Given the description of an element on the screen output the (x, y) to click on. 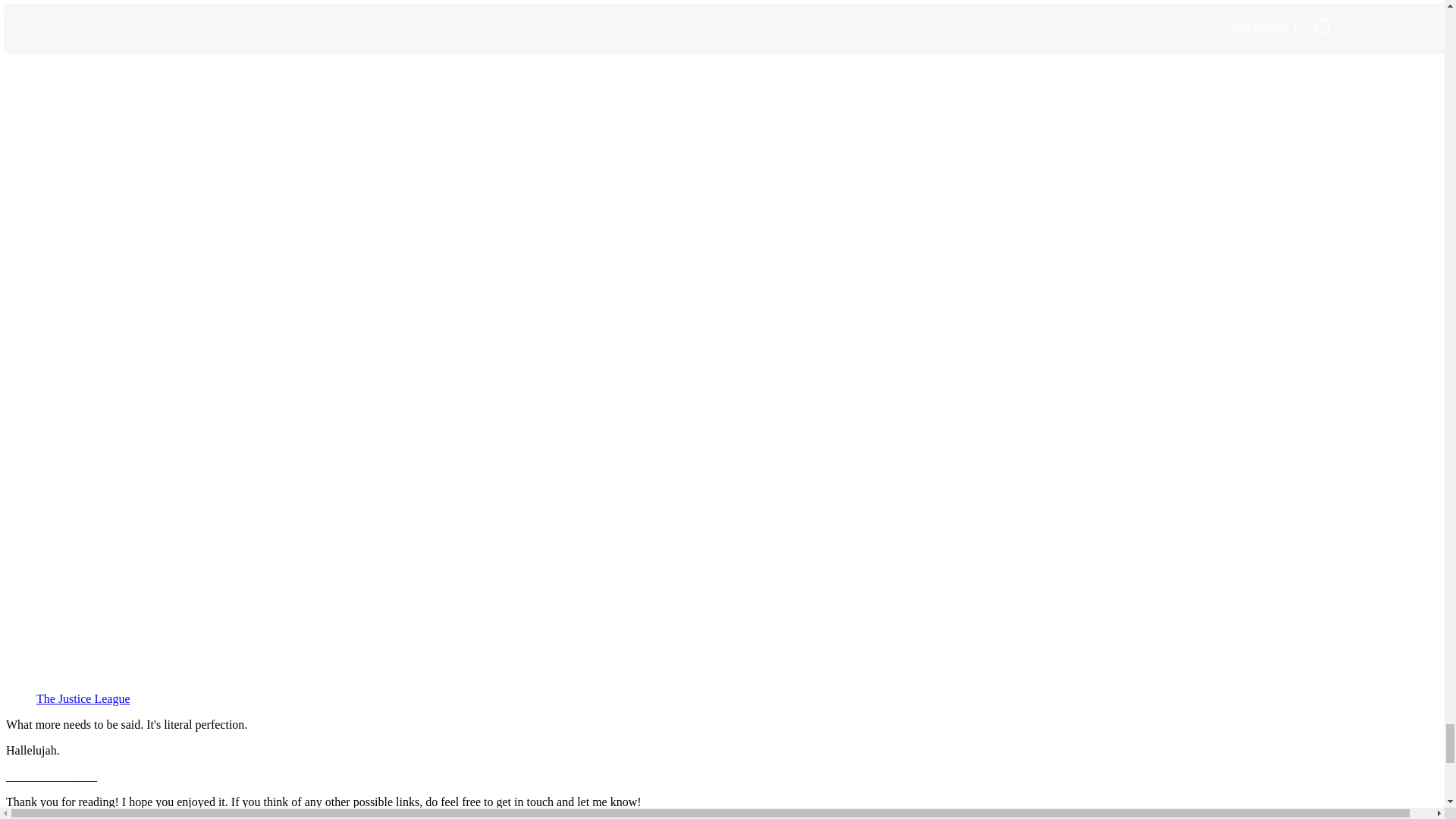
The Justice League (83, 698)
